Given the description of an element on the screen output the (x, y) to click on. 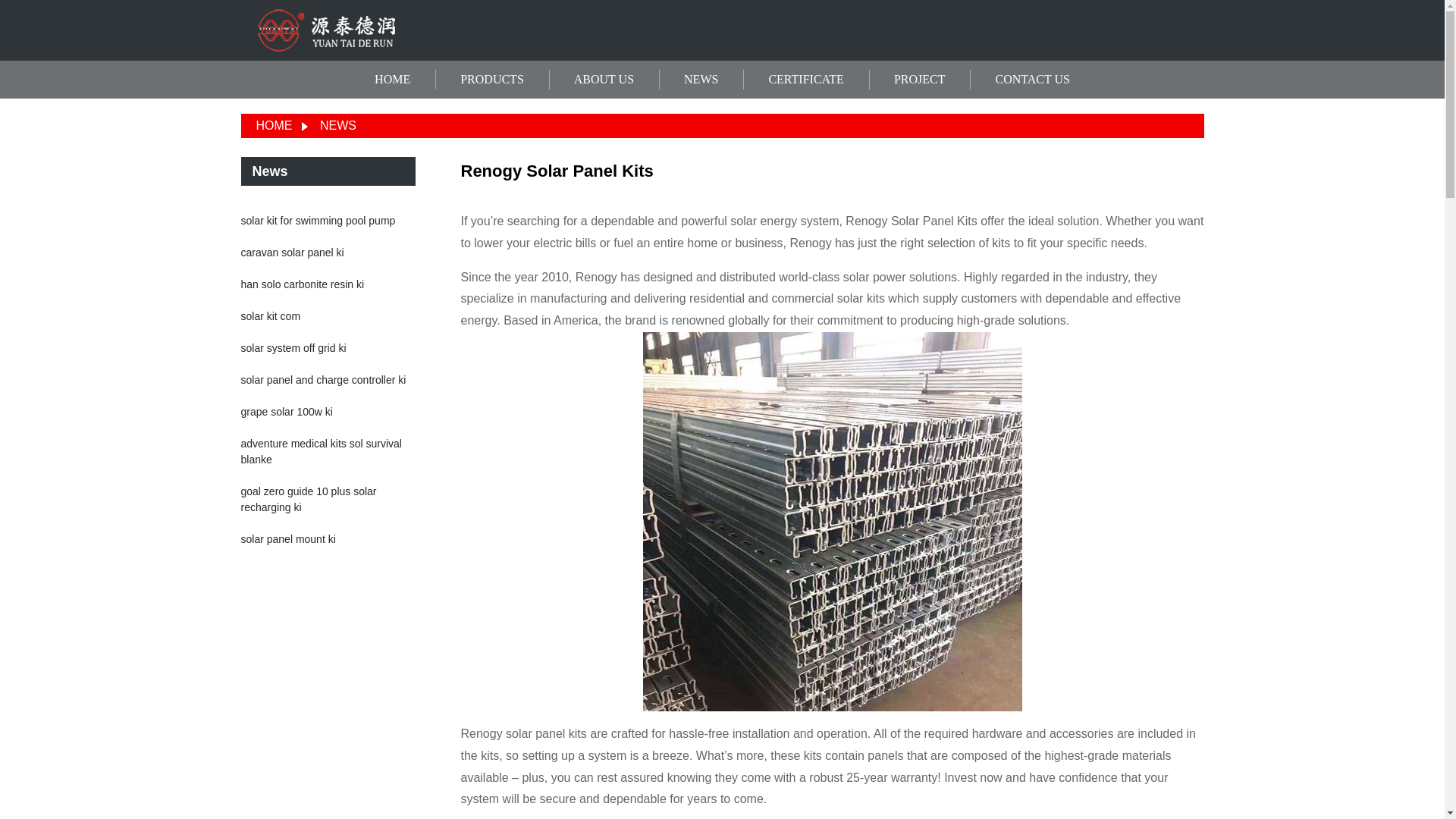
solar kit for swimming pool pump (318, 220)
solar panel mount ki (288, 539)
solar panel and charge controller ki (323, 379)
solar panel mount ki (288, 539)
HOME (392, 79)
solar system off grid ki (293, 347)
CONTACT US (1031, 79)
solar panel and charge controller ki (323, 379)
solar kit for swimming pool pump (318, 220)
goal zero guide 10 plus solar recharging ki (309, 499)
han solo carbonite resin ki (303, 284)
caravan solar panel ki (292, 252)
caravan solar panel ki (292, 252)
HOME (274, 124)
grape solar 100w ki (287, 411)
